Given the description of an element on the screen output the (x, y) to click on. 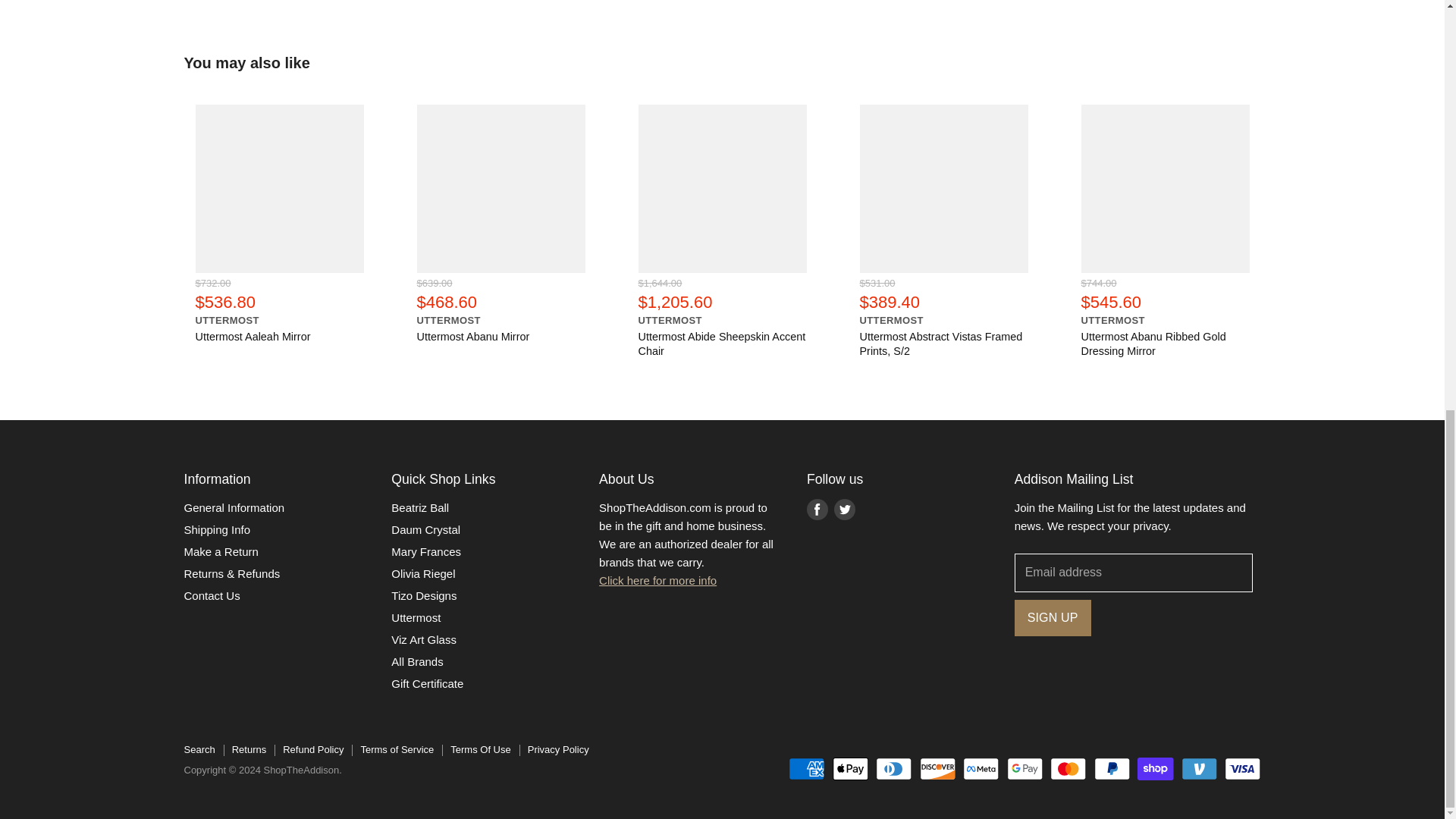
About Us (657, 580)
Twitter (845, 509)
Facebook (817, 509)
